Given the description of an element on the screen output the (x, y) to click on. 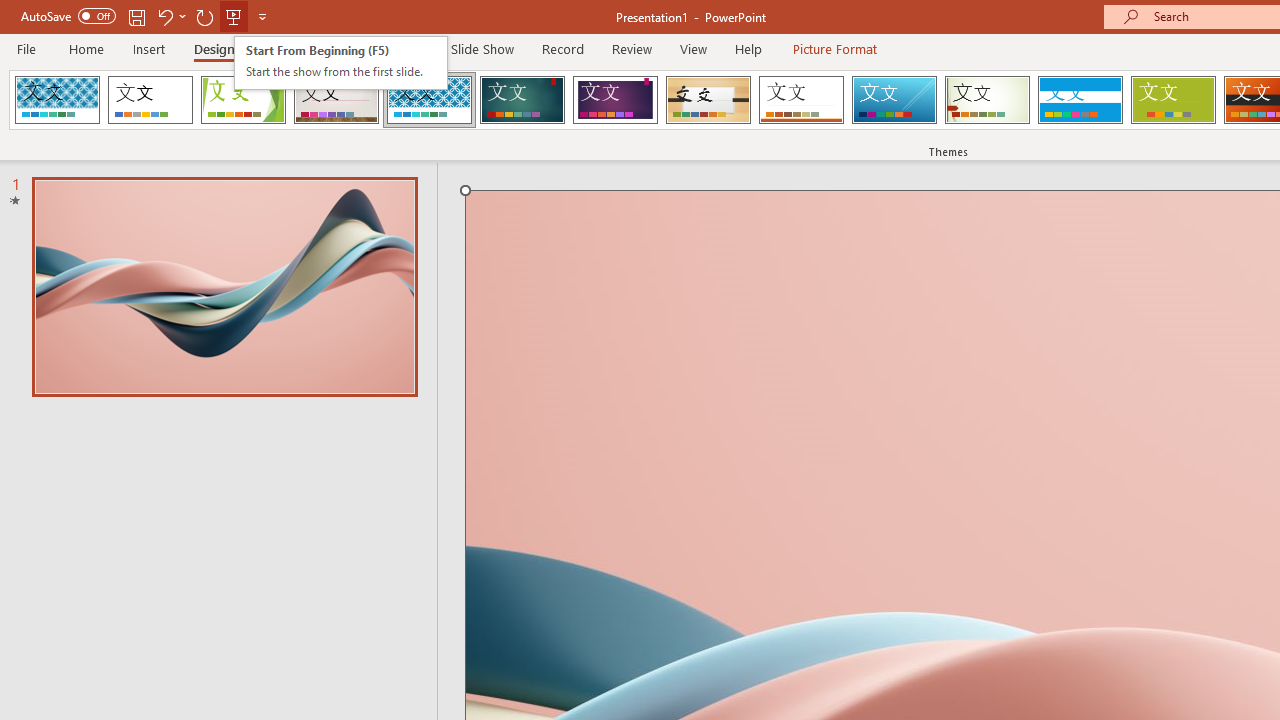
Organic (708, 100)
Wisp (987, 100)
AfterglowVTI (57, 100)
